Given the description of an element on the screen output the (x, y) to click on. 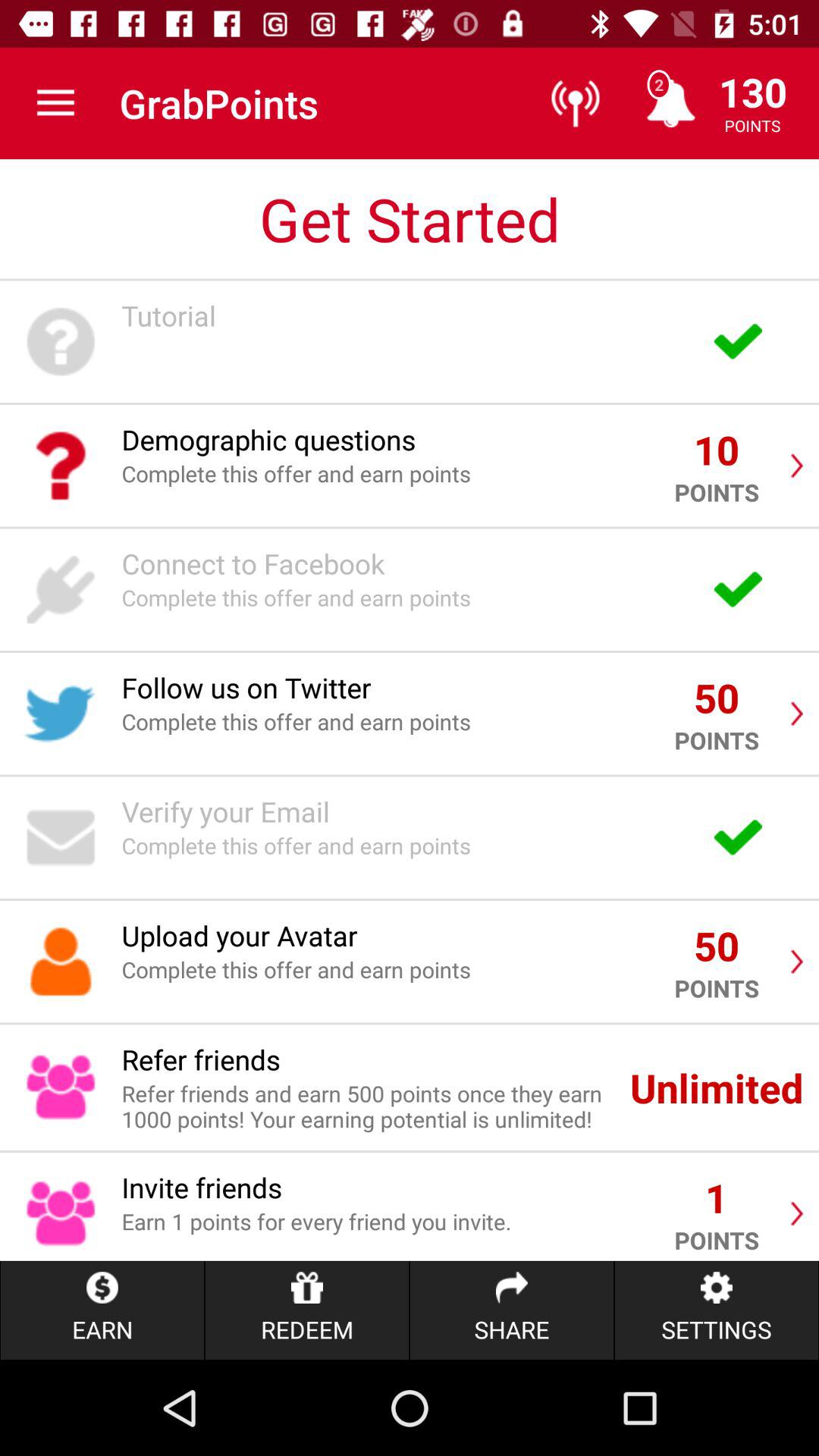
press the icon next to redeem (511, 1310)
